Given the description of an element on the screen output the (x, y) to click on. 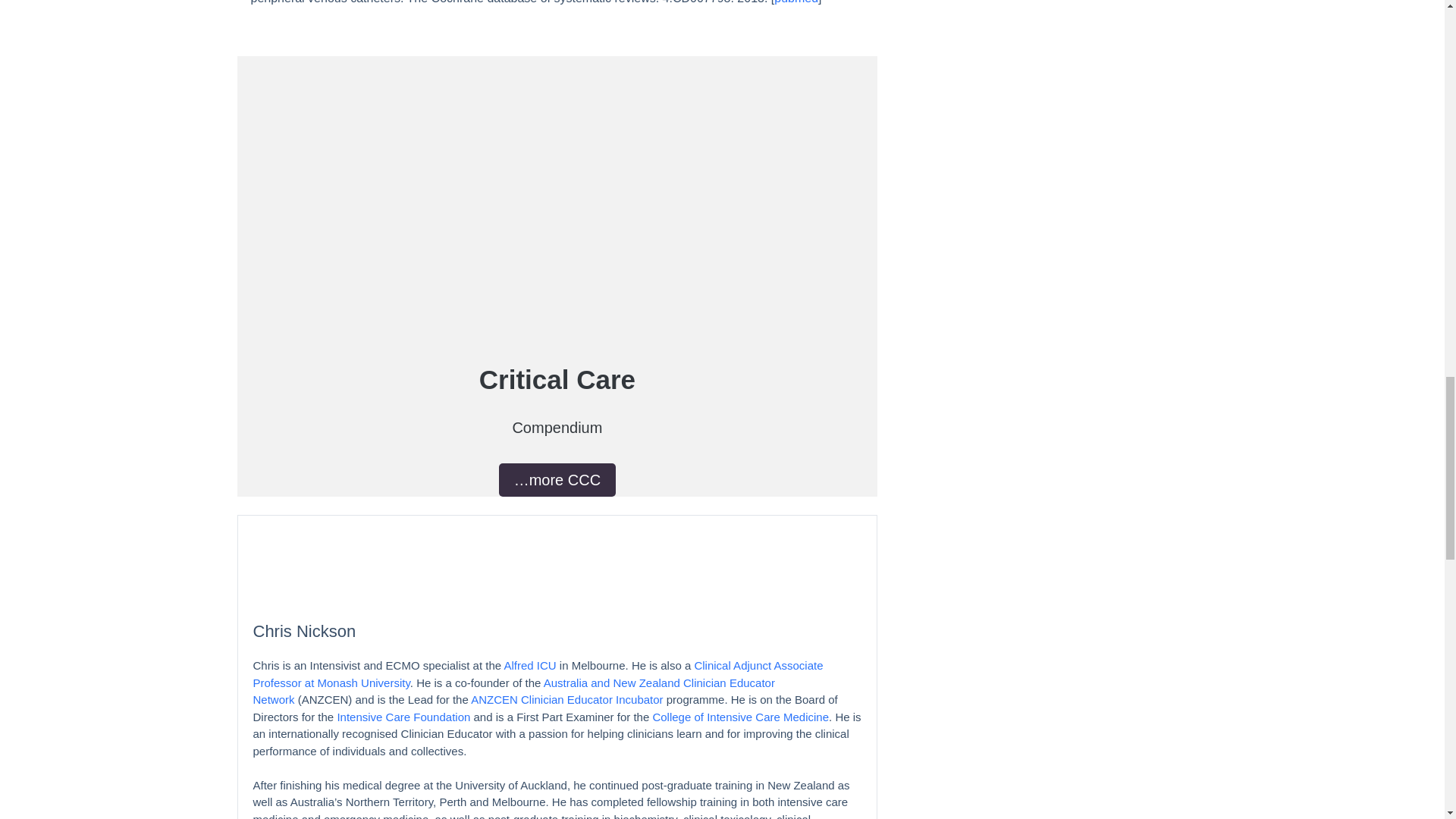
pubmed (796, 2)
